Given the description of an element on the screen output the (x, y) to click on. 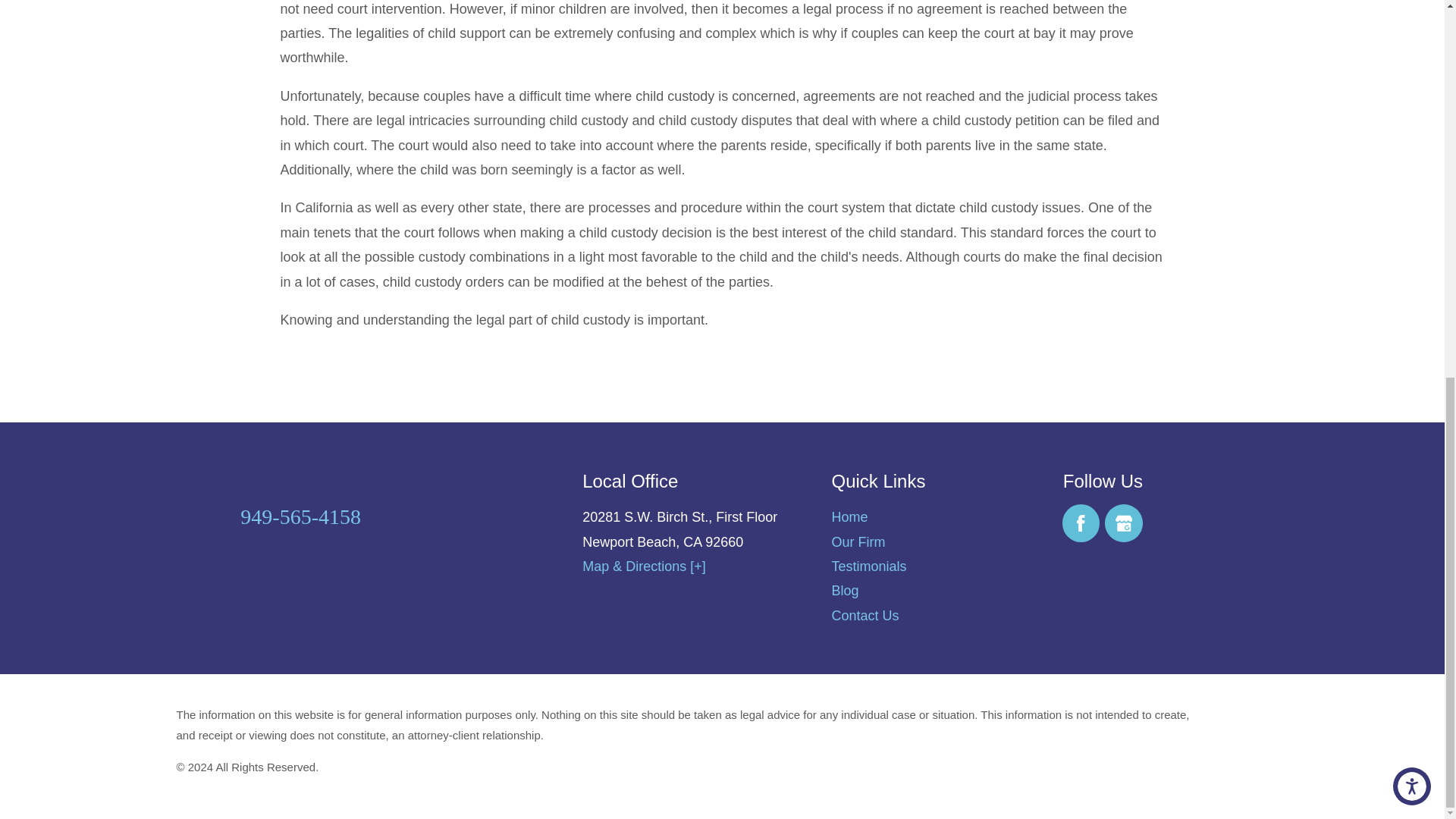
Google Business Profile (1123, 523)
Facebook (1081, 523)
Open the accessibility options menu (1412, 88)
